Given the description of an element on the screen output the (x, y) to click on. 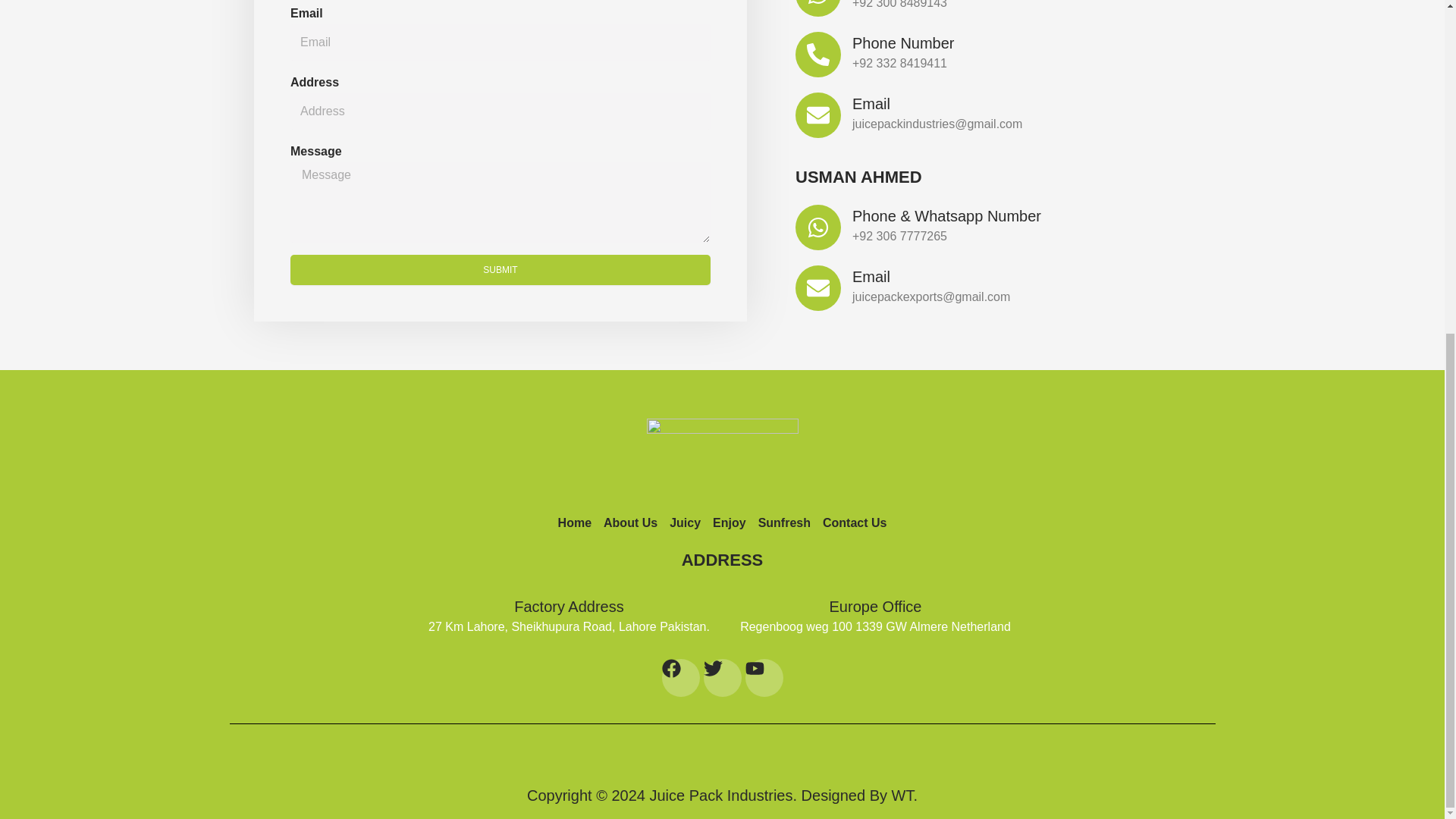
WT (902, 795)
Facebook (679, 677)
Youtube (763, 677)
SUBMIT (499, 269)
Twitter (722, 677)
Email (870, 276)
Email (870, 103)
Sunfresh (784, 523)
Phone Number (903, 43)
Home (574, 523)
Contact Us (854, 523)
About Us (631, 523)
Juicy (684, 523)
Enjoy (729, 523)
